Given the description of an element on the screen output the (x, y) to click on. 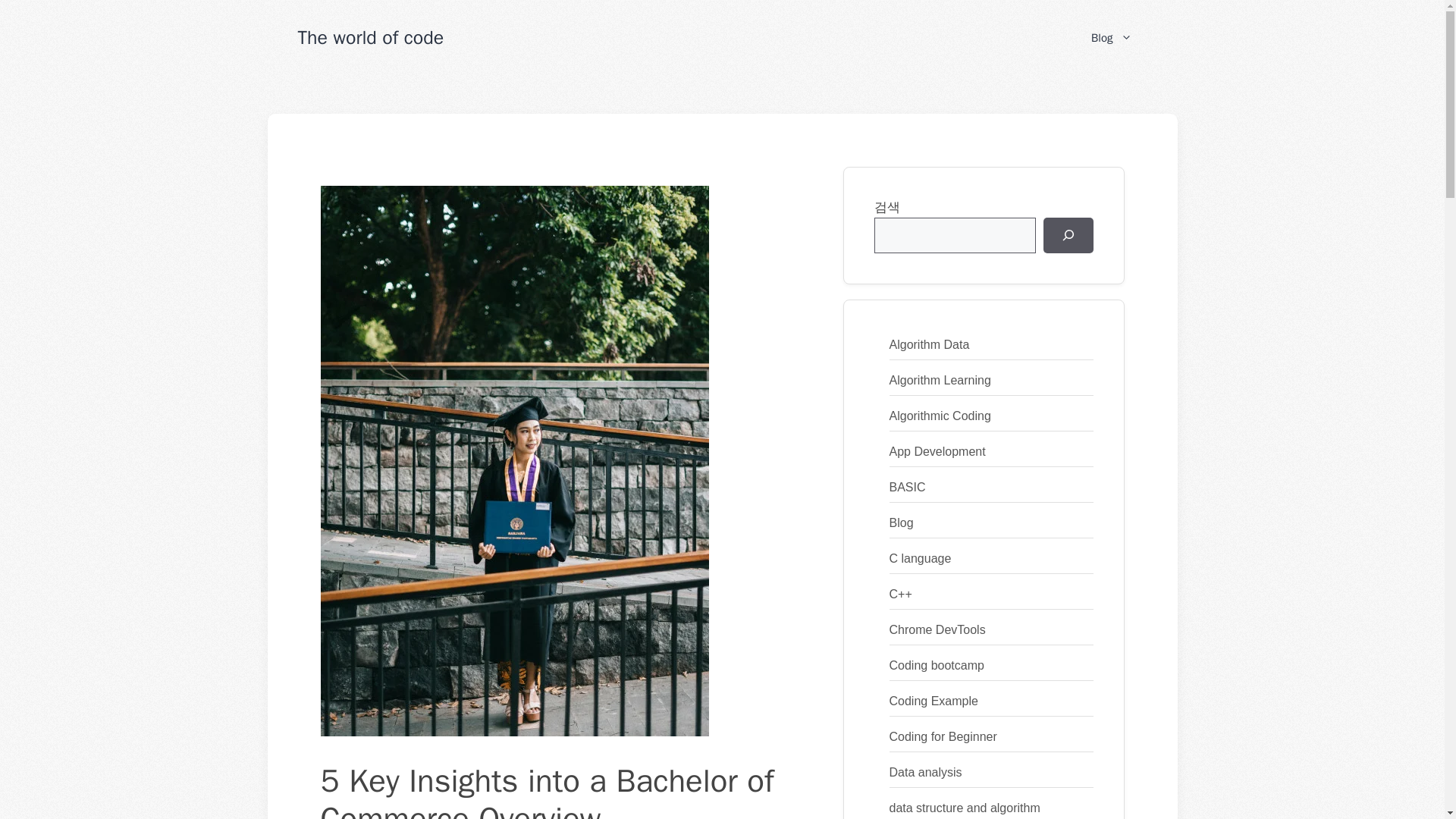
Algorithm Learning (939, 379)
Blog (1111, 37)
The world of code (370, 37)
C language (919, 558)
Algorithmic Coding (939, 415)
BASIC (906, 486)
Blog (900, 522)
Algorithm Data (928, 344)
App Development (936, 451)
